Given the description of an element on the screen output the (x, y) to click on. 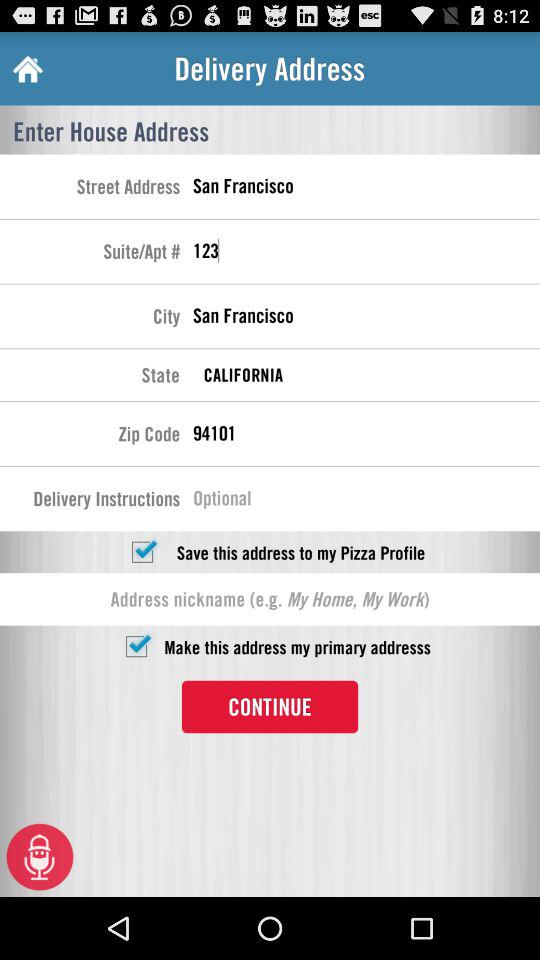
enter address nickname (270, 599)
